Given the description of an element on the screen output the (x, y) to click on. 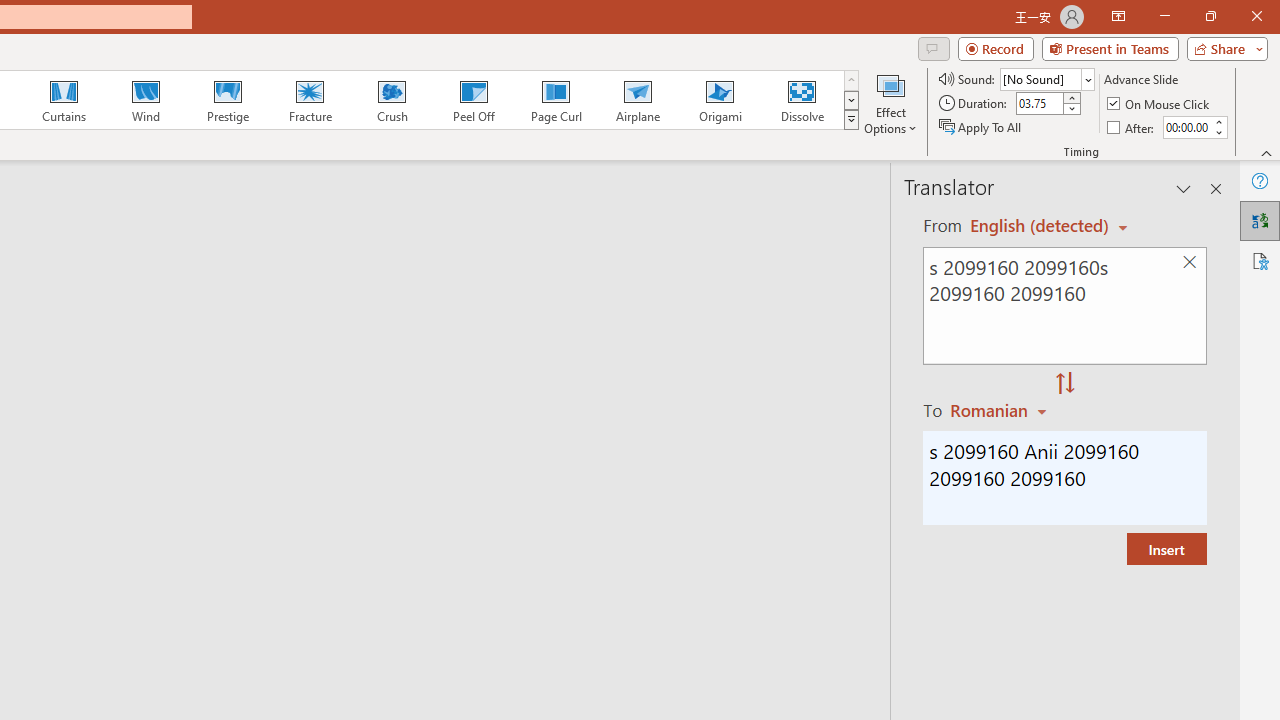
Page Curl (555, 100)
Fracture (309, 100)
After (1186, 127)
Sound (1046, 78)
Clear text (1189, 262)
Transition Effects (850, 120)
Curtains (63, 100)
